Given the description of an element on the screen output the (x, y) to click on. 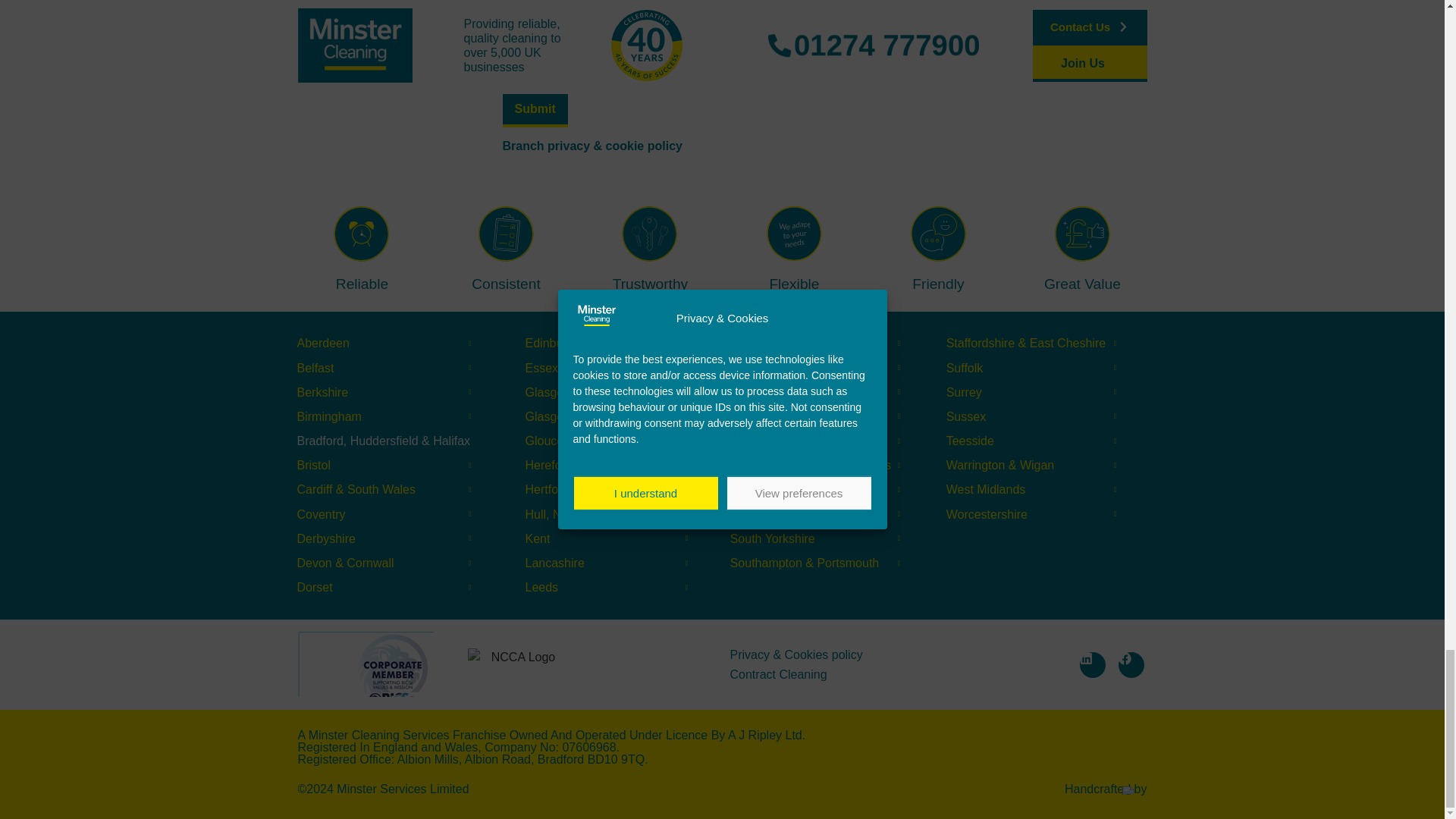
Submit (534, 110)
BICSC (365, 663)
